Given the description of an element on the screen output the (x, y) to click on. 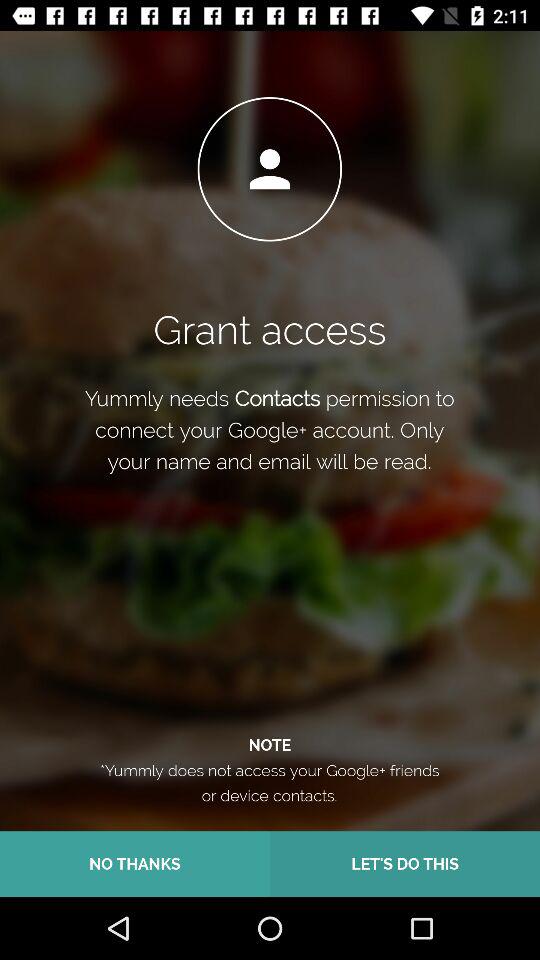
click item next to no thanks icon (405, 863)
